Given the description of an element on the screen output the (x, y) to click on. 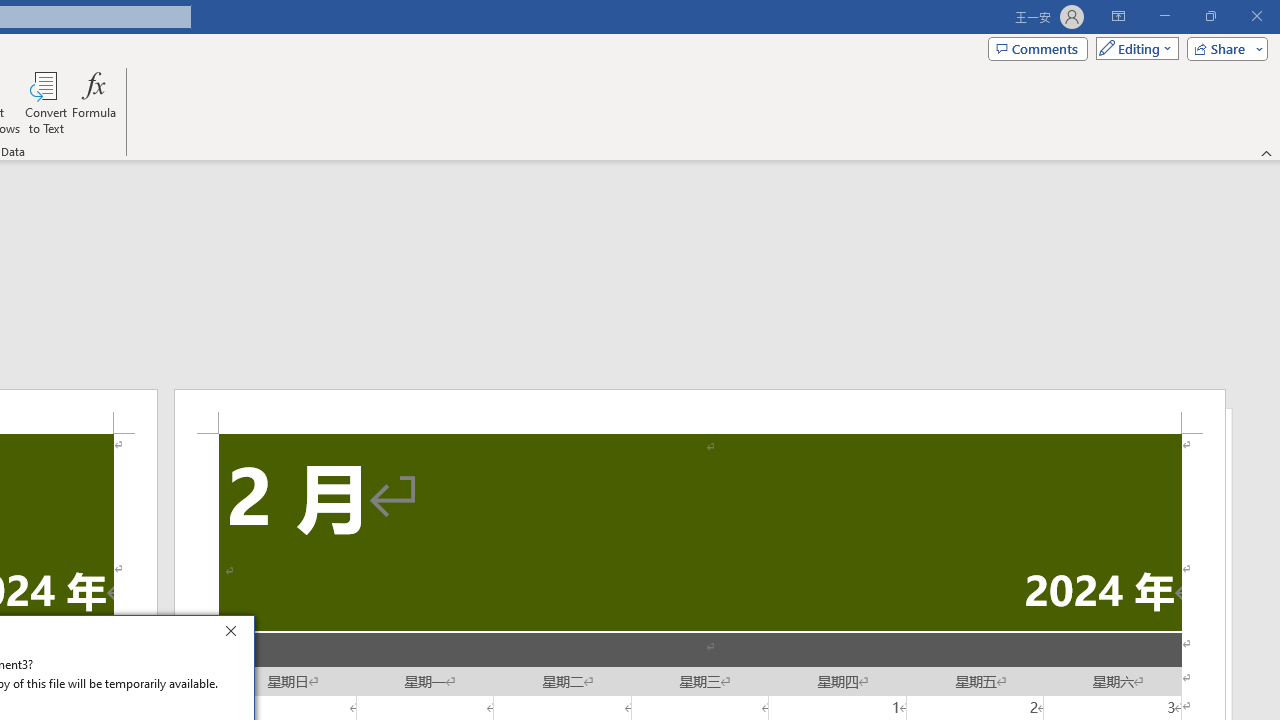
Mode (1133, 47)
Minimize (1164, 16)
Formula... (94, 102)
Convert to Text... (46, 102)
Comments (1038, 48)
Ribbon Display Options (1118, 16)
Share (1223, 48)
Close (236, 633)
Collapse the Ribbon (1267, 152)
Restore Down (1210, 16)
Header -Section 2- (700, 411)
